Given the description of an element on the screen output the (x, y) to click on. 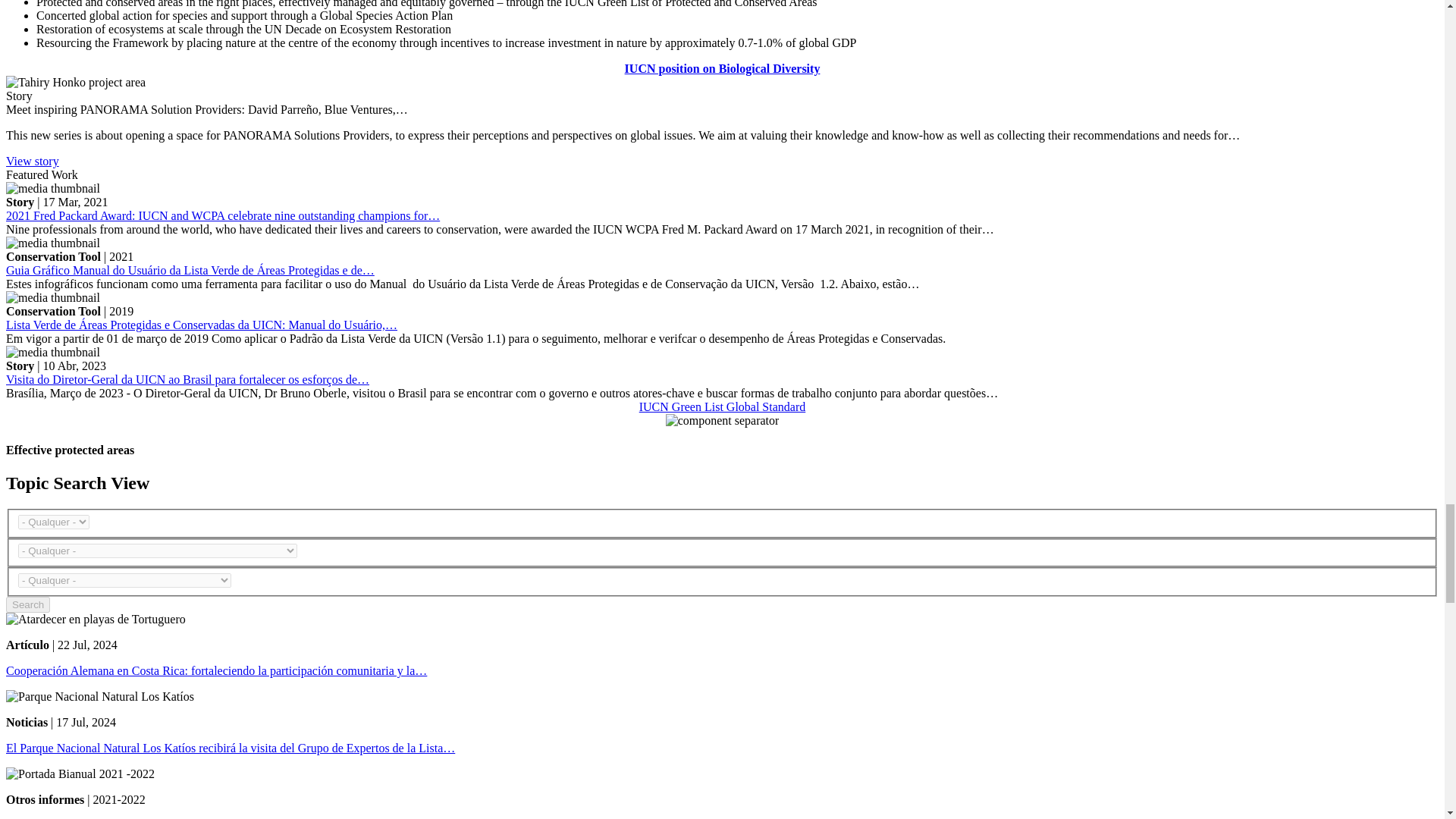
Tahiry Honko project area (75, 82)
